Given the description of an element on the screen output the (x, y) to click on. 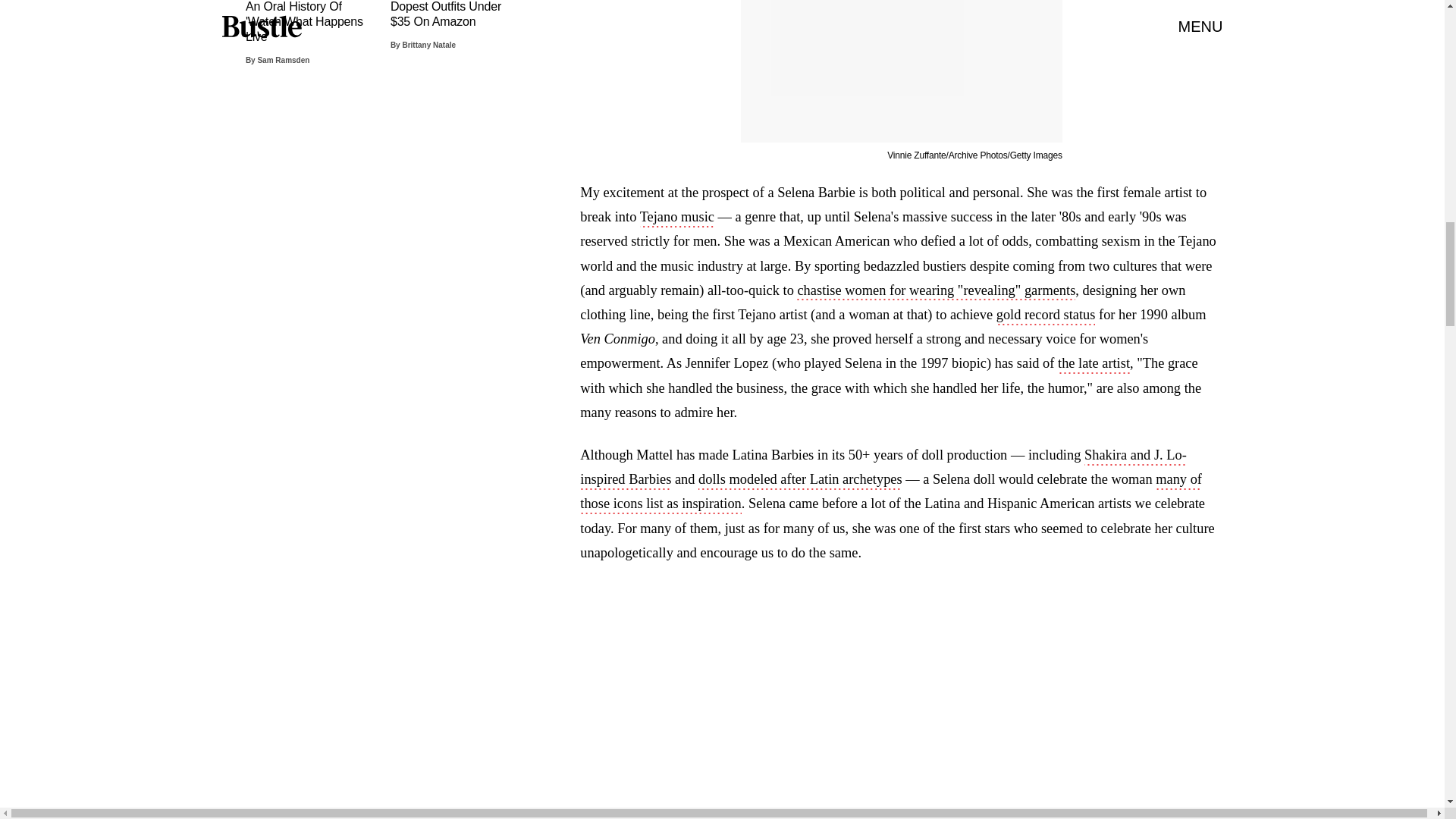
chastise women for wearing "revealing" garments (935, 291)
Tejano music (677, 218)
the late artist (1093, 364)
Shakira and J. Lo-inspired Barbies (882, 468)
many of those icons list as inspiration (890, 492)
gold record status (1045, 316)
dolls modeled after Latin archetypes (800, 480)
